Given the description of an element on the screen output the (x, y) to click on. 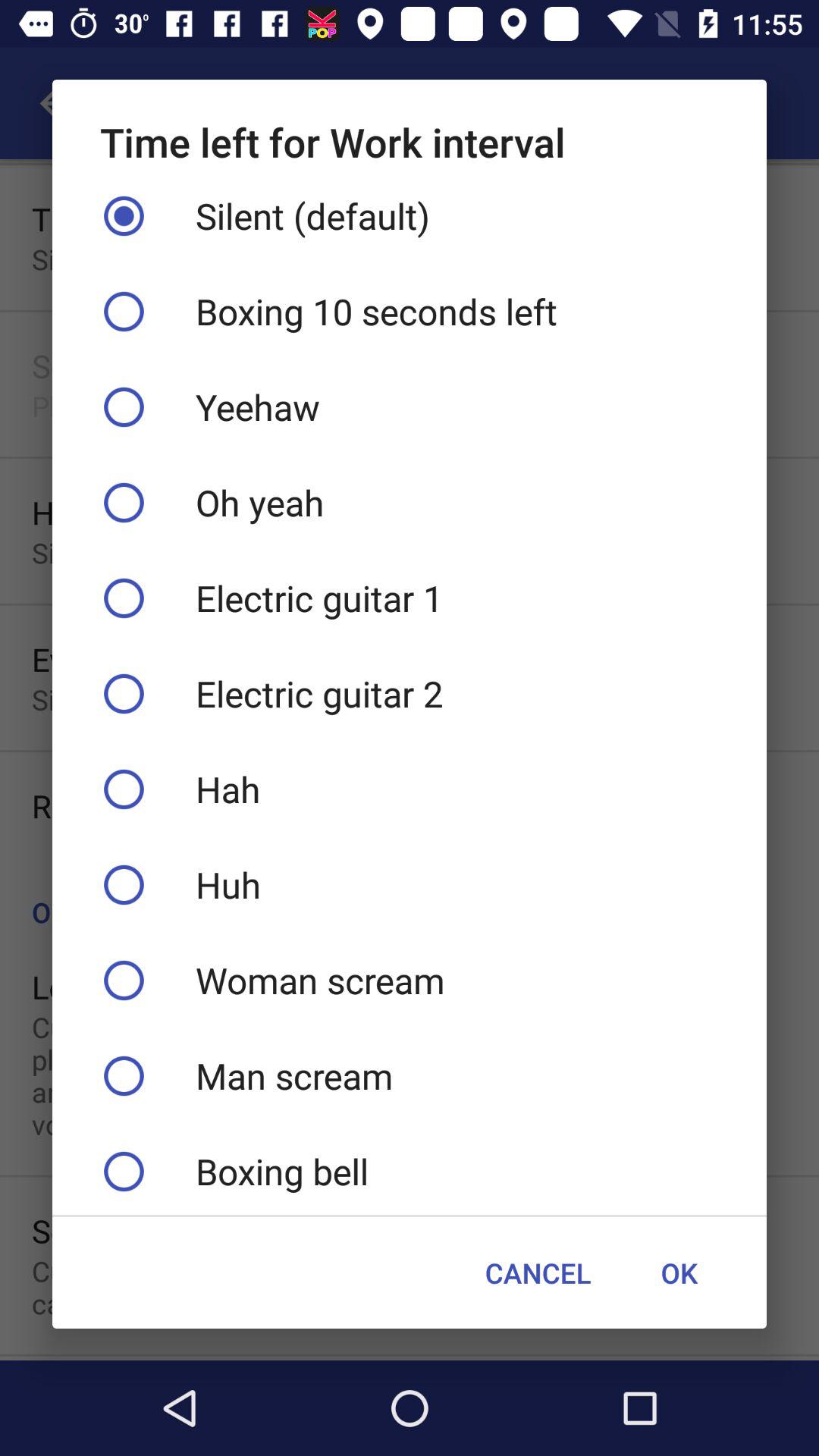
click icon next to the ok item (538, 1272)
